Given the description of an element on the screen output the (x, y) to click on. 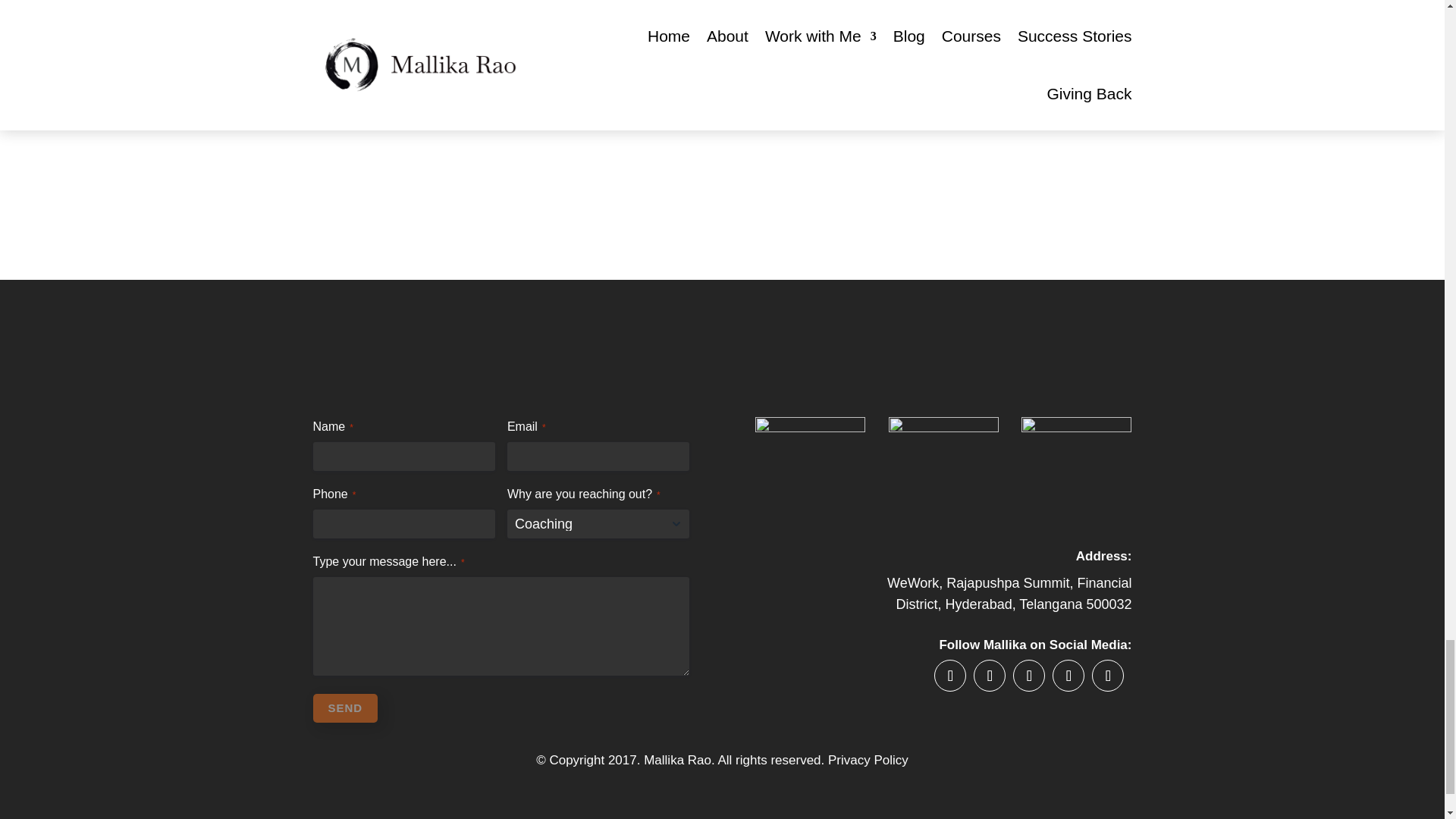
Privacy Policy (868, 759)
footer-1 (943, 471)
footer-2 (1076, 471)
Follow on Instagram (1029, 675)
Send (345, 707)
footer-5 (809, 471)
Follow on Facebook (950, 675)
Follow on LinkedIn (1108, 675)
Follow on X (990, 675)
Send (345, 707)
